Given the description of an element on the screen output the (x, y) to click on. 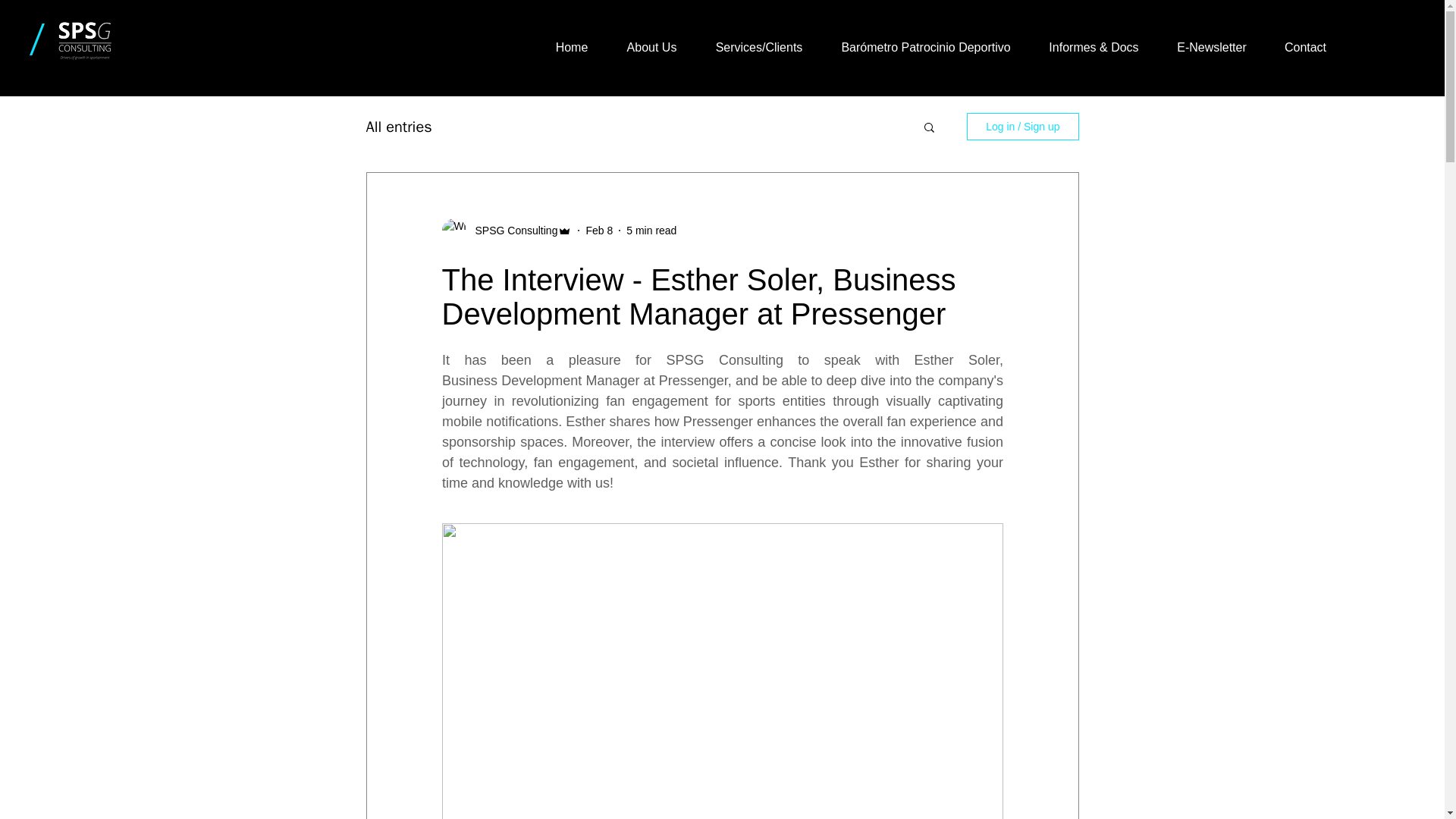
Contact (1305, 47)
5 min read (651, 230)
About Us (651, 47)
All entries (397, 127)
Feb 8 (598, 230)
Home (571, 47)
E-Newsletter (1211, 47)
SPSG Consulting (511, 230)
